Given the description of an element on the screen output the (x, y) to click on. 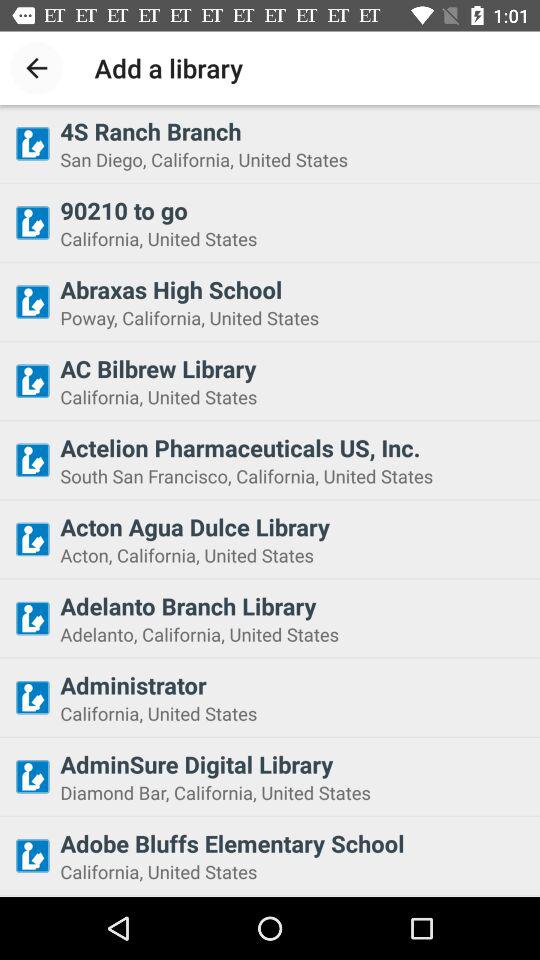
open icon above diamond bar california (294, 764)
